Given the description of an element on the screen output the (x, y) to click on. 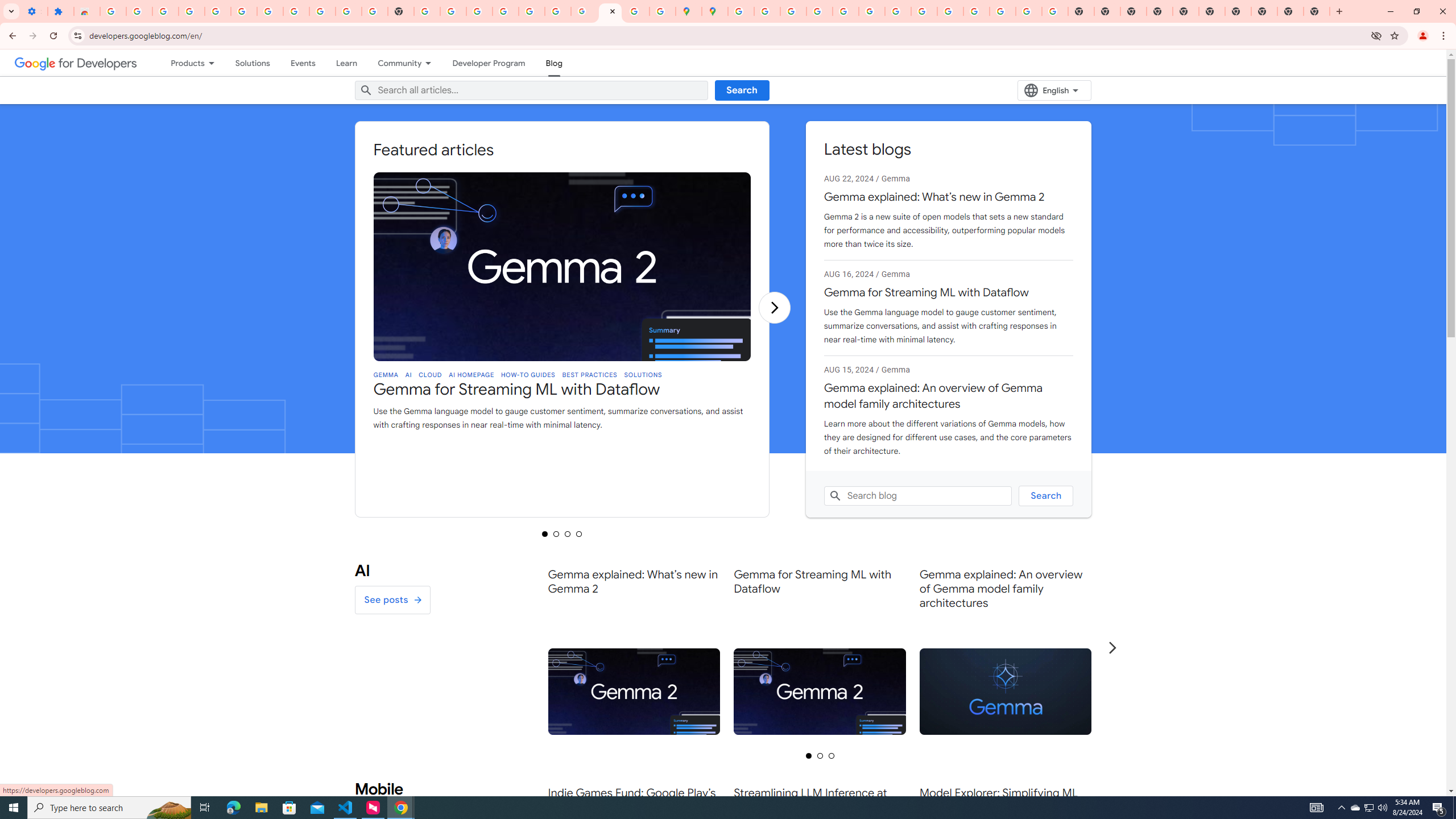
Dropdown menu for Products (214, 62)
https://scholar.google.com/ (427, 11)
Gemma for Streaming ML with Dataflow Gemma-2-Feature (819, 647)
Safety in Our Products - Google Safety Center (663, 11)
Selected tab 4 of 4 (579, 533)
Gemma-2-Feature (819, 691)
Next slide (1112, 647)
